Given the description of an element on the screen output the (x, y) to click on. 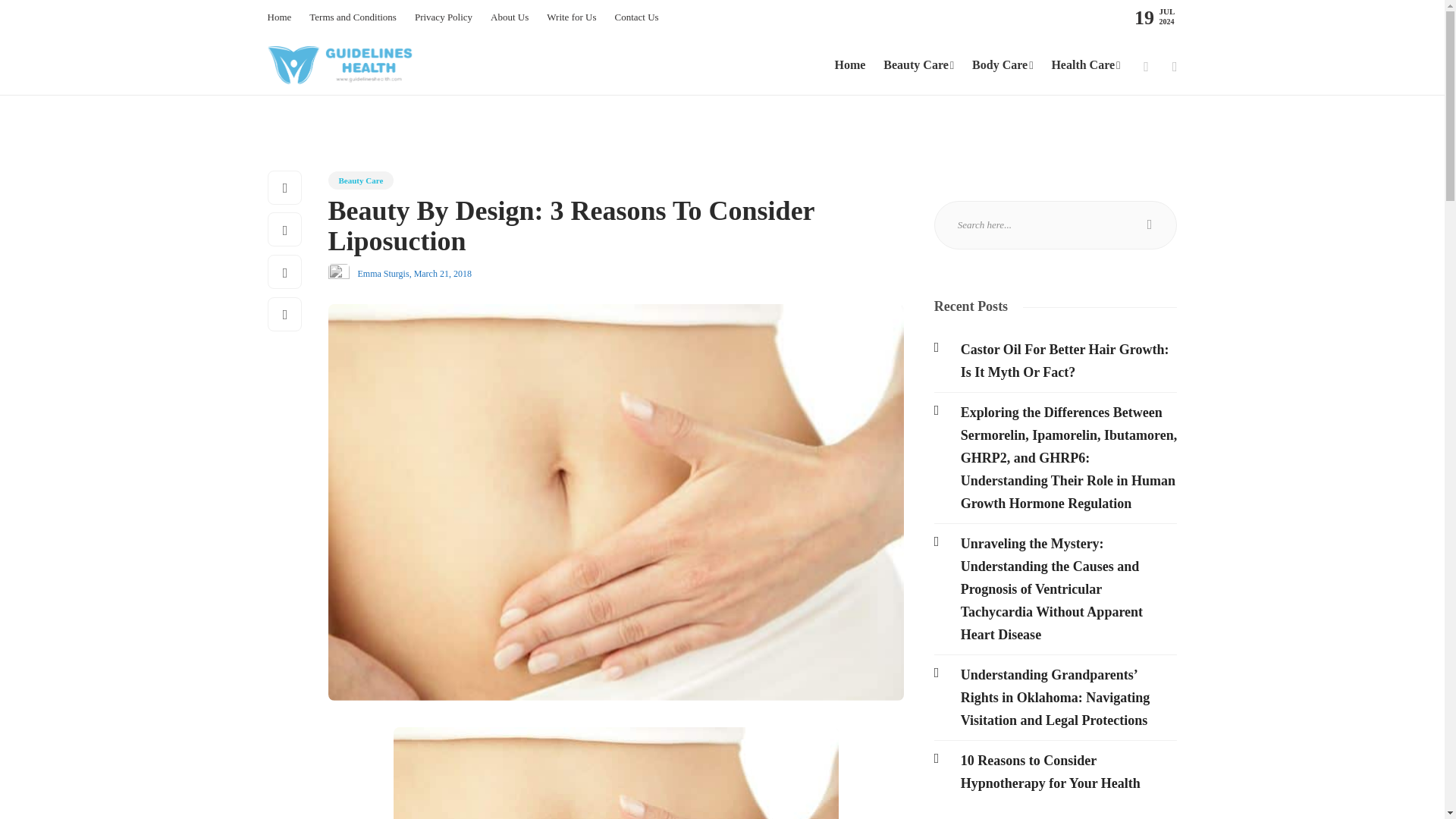
Search text (1055, 224)
Contact Us (636, 17)
Terms and Conditions (352, 17)
Privacy Policy (442, 17)
Write for Us (571, 17)
About Us (509, 17)
